Given the description of an element on the screen output the (x, y) to click on. 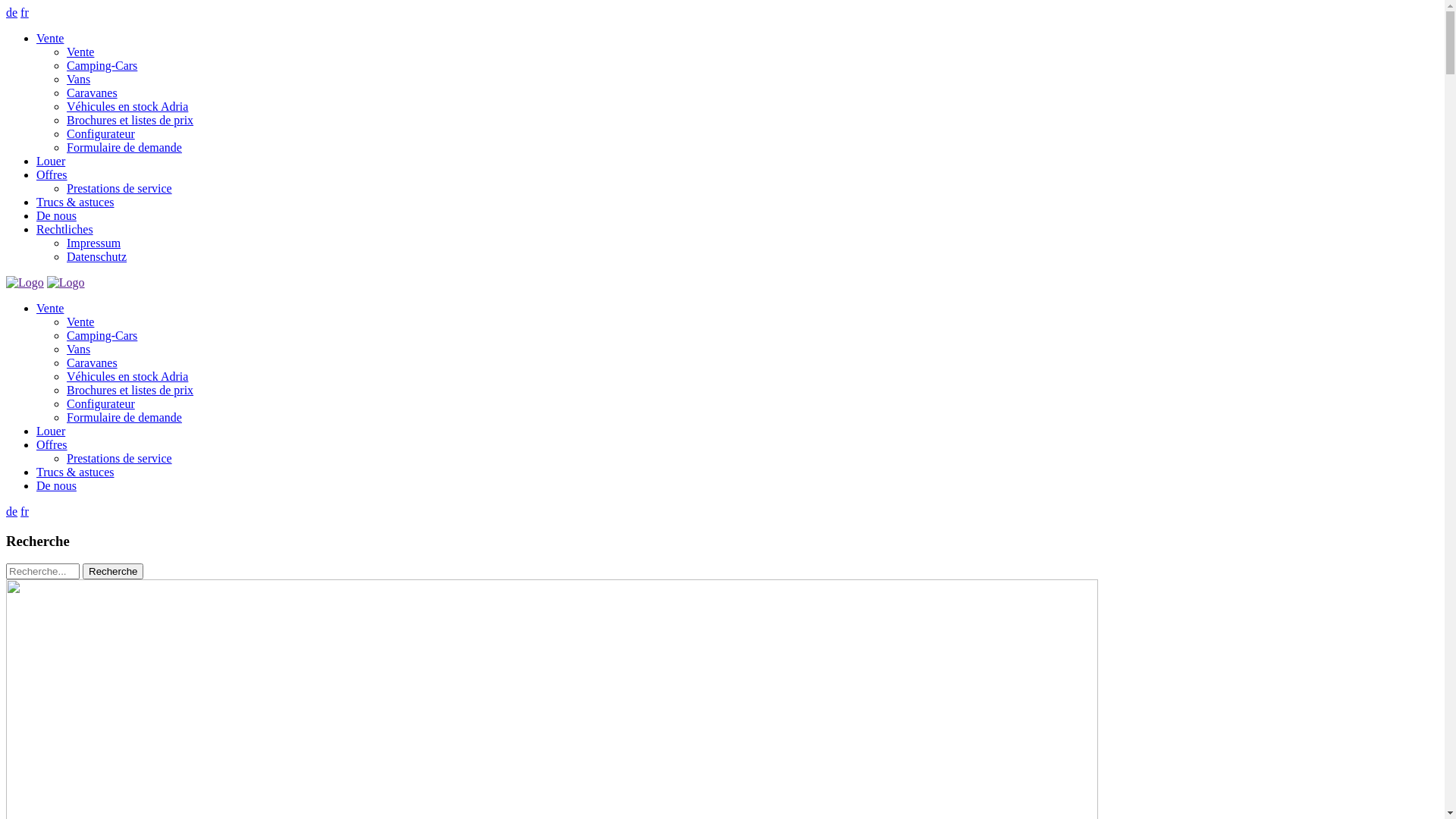
Louer Element type: text (50, 430)
Offres Element type: text (51, 444)
Offres Element type: text (51, 174)
Formulaire de demande Element type: text (124, 147)
fr Element type: text (24, 12)
Caravanes Element type: text (91, 362)
Datenschutz Element type: text (96, 256)
Formulaire de demande Element type: text (124, 417)
De nous Element type: text (56, 485)
Prestations de service Element type: text (119, 457)
Configurateur Element type: text (100, 403)
Recherche Element type: text (112, 571)
Trucs & astuces Element type: text (75, 201)
Configurateur Element type: text (100, 133)
Vente Element type: text (80, 321)
Rechtliches Element type: text (64, 228)
de Element type: text (11, 511)
de Element type: text (11, 12)
Camping-Cars Element type: text (101, 335)
Caravanes Element type: text (91, 92)
Vente Element type: text (49, 307)
fr Element type: text (24, 511)
Vans Element type: text (78, 78)
Brochures et listes de prix Element type: text (129, 389)
Vente Element type: text (80, 51)
Prestations de service Element type: text (119, 188)
Trucs & astuces Element type: text (75, 471)
Louer Element type: text (50, 160)
Impressum Element type: text (93, 242)
Vans Element type: text (78, 348)
Camping-Cars Element type: text (101, 65)
De nous Element type: text (56, 215)
Brochures et listes de prix Element type: text (129, 119)
Vente Element type: text (49, 37)
